Given the description of an element on the screen output the (x, y) to click on. 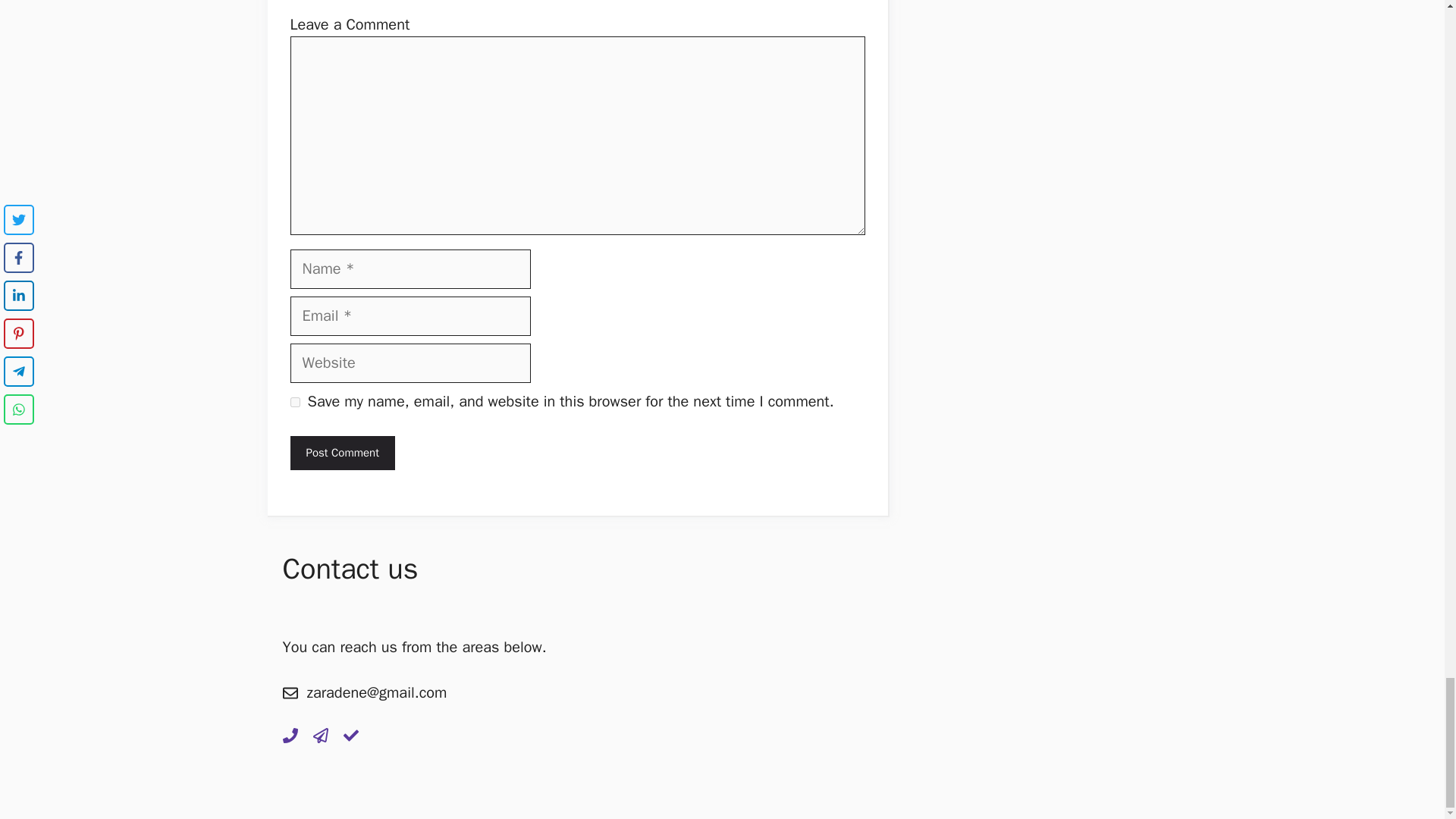
Post Comment (341, 452)
yes (294, 402)
Post Comment (341, 452)
